Given the description of an element on the screen output the (x, y) to click on. 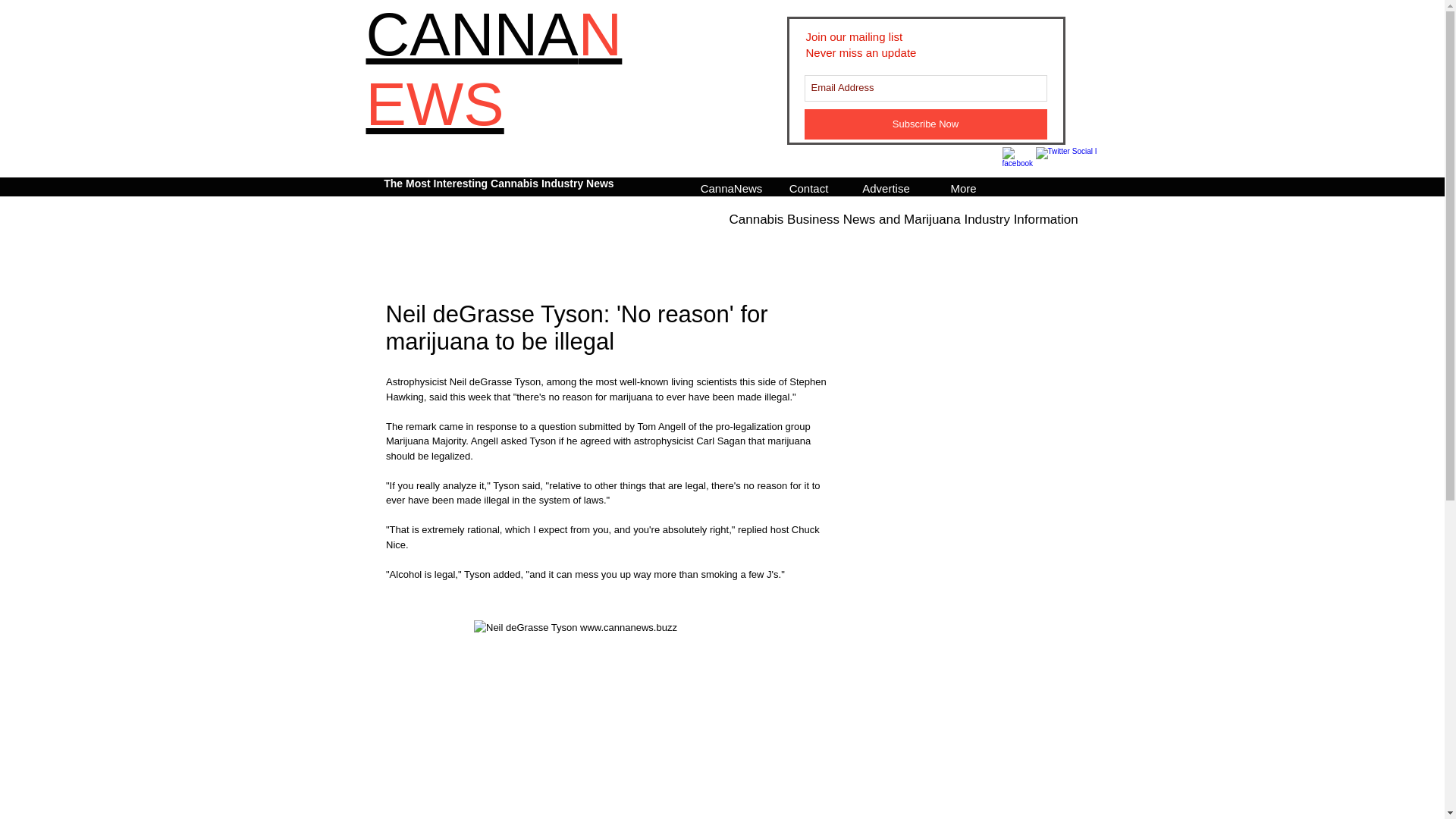
Advertise (885, 186)
CANNANEWS (493, 69)
Contact (808, 186)
CannaNews (731, 186)
Subscribe Now (924, 123)
